Given the description of an element on the screen output the (x, y) to click on. 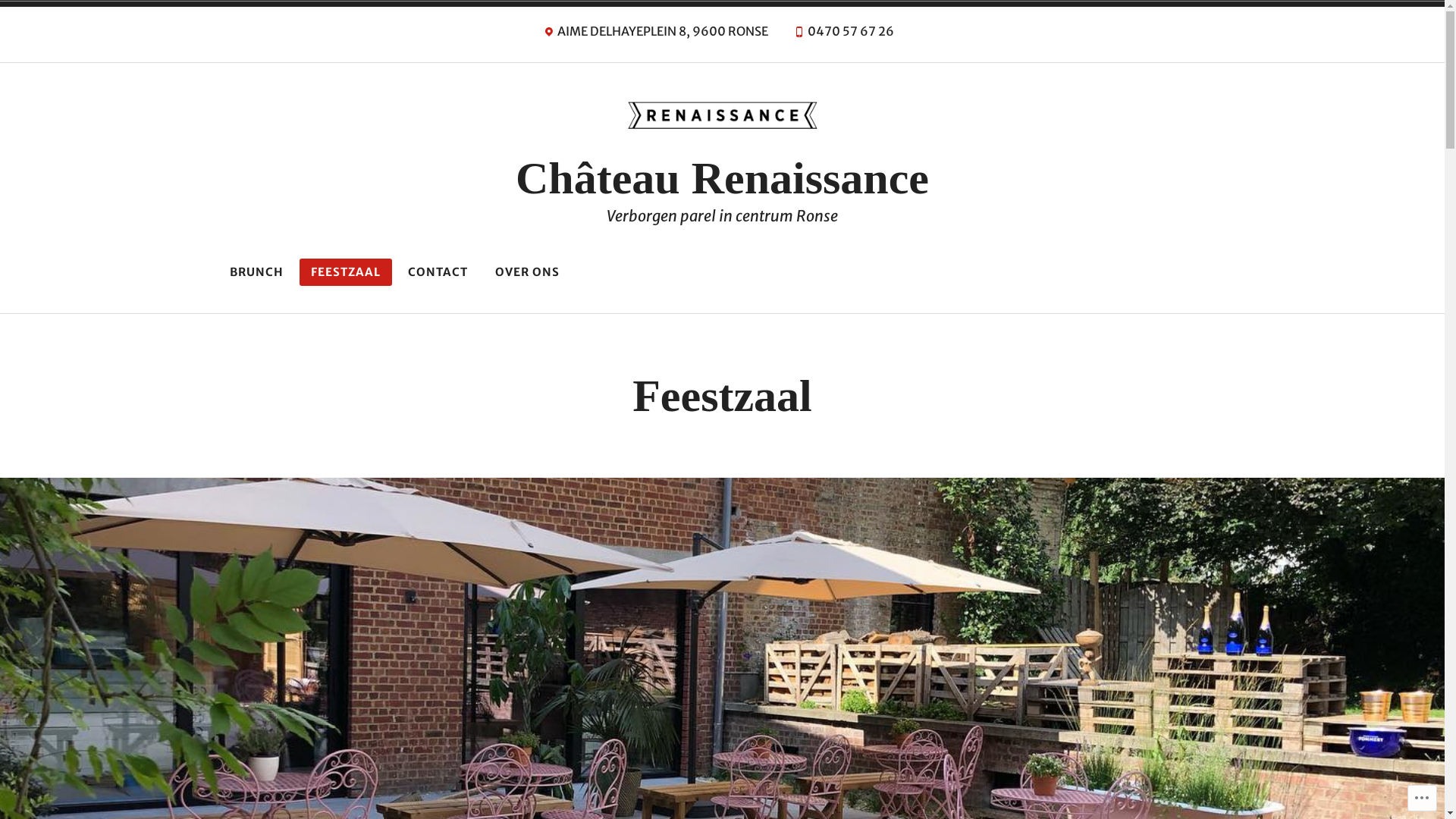
FEESTZAAL Element type: text (344, 271)
Locatie AIME DELHAYEPLEIN 8, 9600 RONSE Element type: text (655, 34)
Telefoon 0470 57 67 26 Element type: text (843, 34)
BRUNCH Element type: text (256, 271)
OVER ONS Element type: text (527, 271)
CONTACT Element type: text (436, 271)
